Given the description of an element on the screen output the (x, y) to click on. 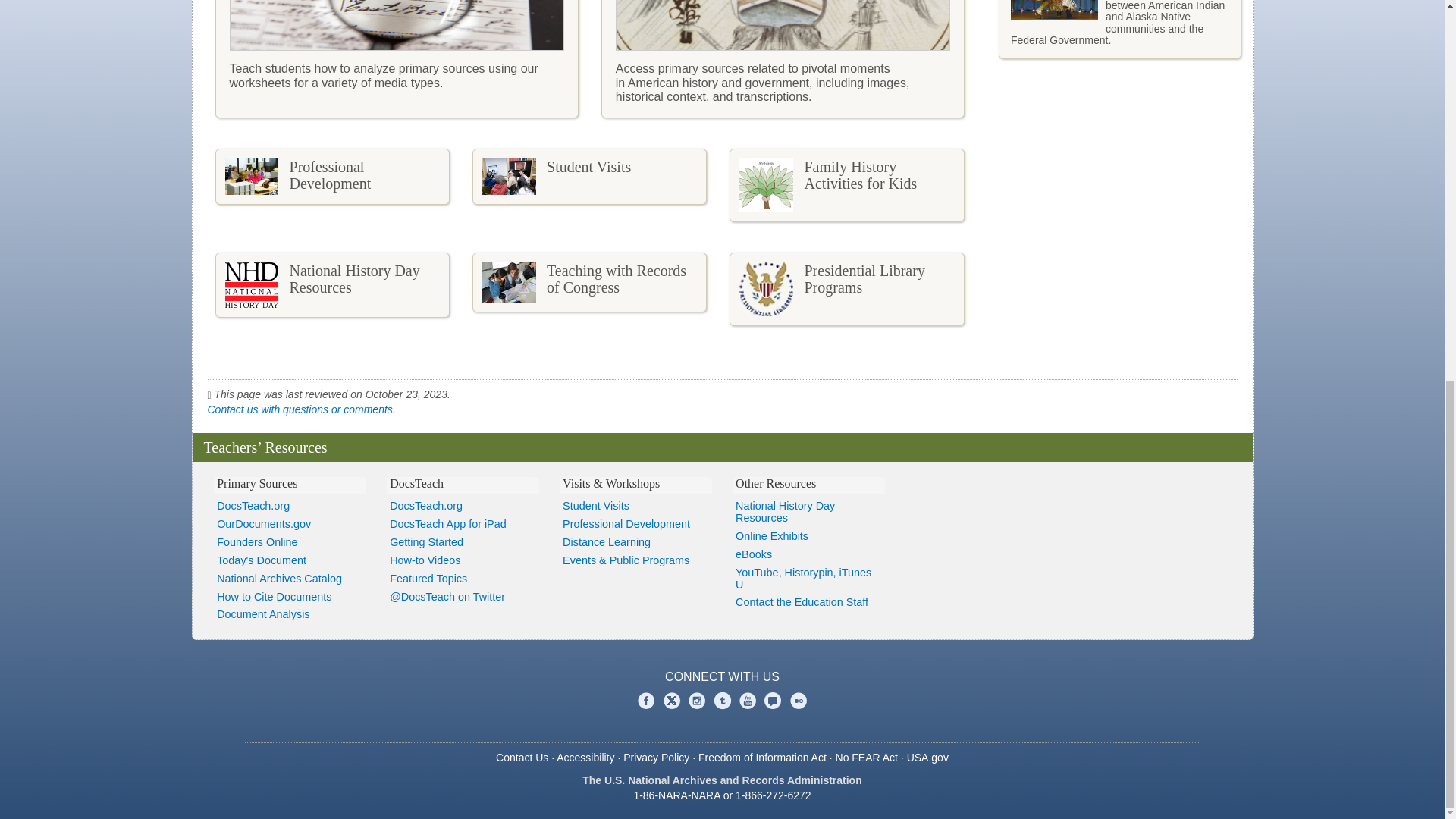
Professional Development (331, 176)
Teaching with Records of Congress (589, 282)
DocsTeach.org (290, 506)
Family History Activities for Kids (846, 185)
Presidential Library Programs (846, 289)
Primary Sources (256, 482)
Student Visits (589, 176)
National History Day Resources (331, 284)
Contact us with questions or comments (300, 409)
